Given the description of an element on the screen output the (x, y) to click on. 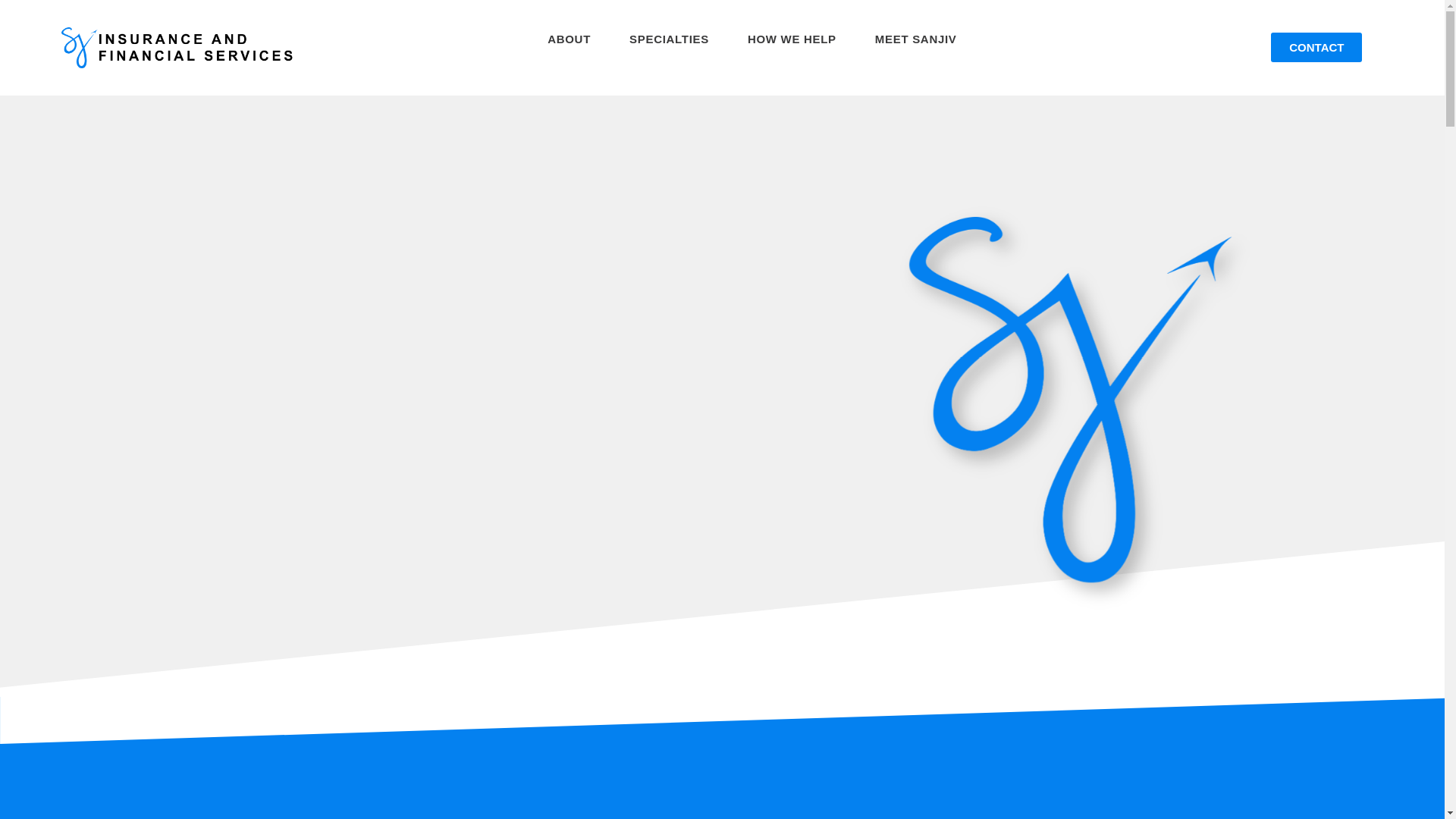
HOW WE HELP (792, 38)
MEET SANJIV (916, 38)
ABOUT (568, 38)
CONTACT (1316, 47)
SPECIALTIES (669, 38)
